Given the description of an element on the screen output the (x, y) to click on. 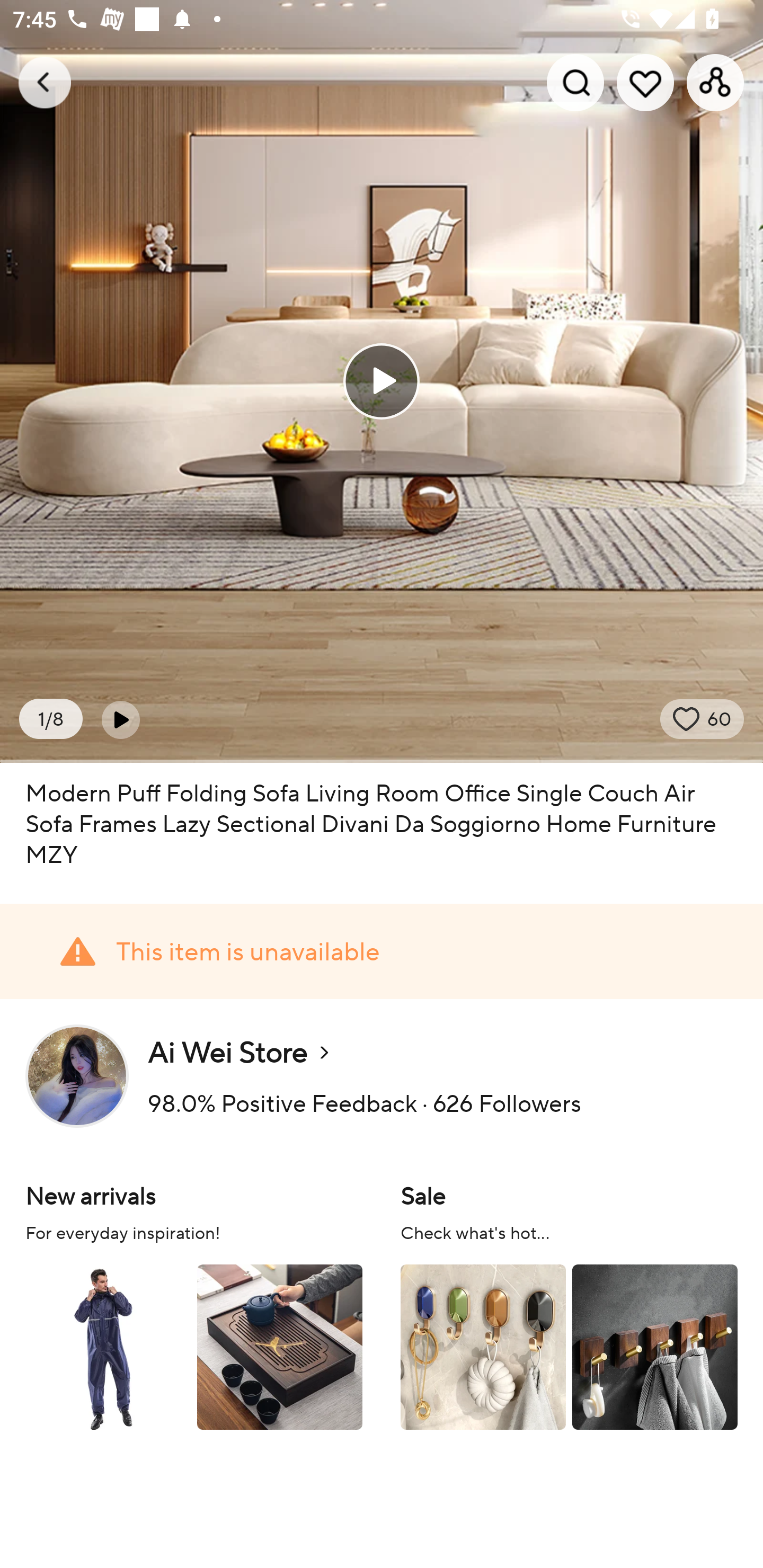
0.0 (381, 381)
Navigate up (44, 82)
wish state 60 (701, 718)
 (120, 719)
New arrivals For everyday inspiration!  (193, 1304)
Sale Check what's hot... (568, 1304)
